Given the description of an element on the screen output the (x, y) to click on. 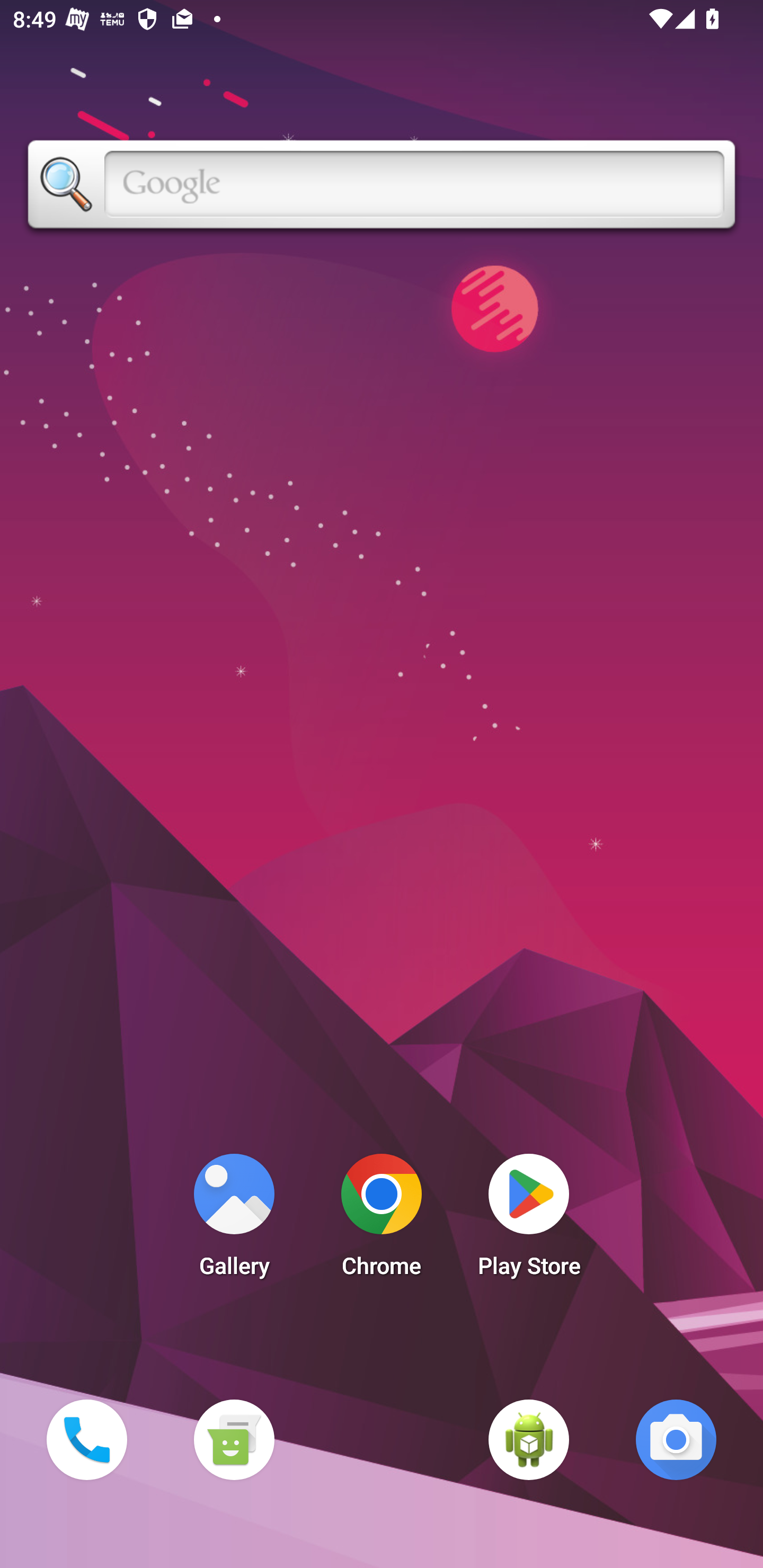
Gallery (233, 1220)
Chrome (381, 1220)
Play Store (528, 1220)
Phone (86, 1439)
Messaging (233, 1439)
WebView Browser Tester (528, 1439)
Camera (676, 1439)
